Given the description of an element on the screen output the (x, y) to click on. 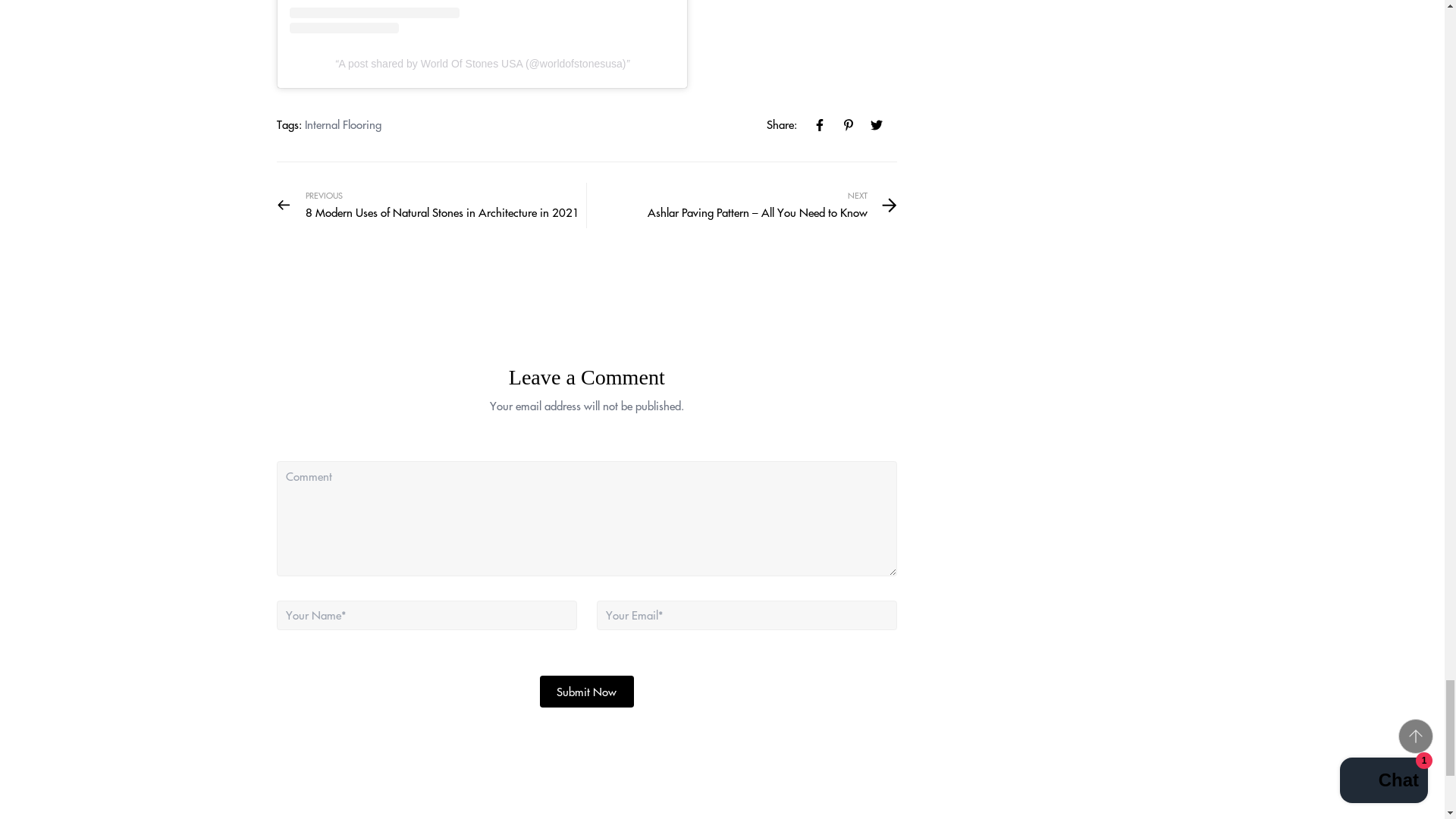
View this post on Instagram (482, 16)
Submit Now (586, 690)
Internal Flooring (342, 123)
Submit Now (586, 690)
